Given the description of an element on the screen output the (x, y) to click on. 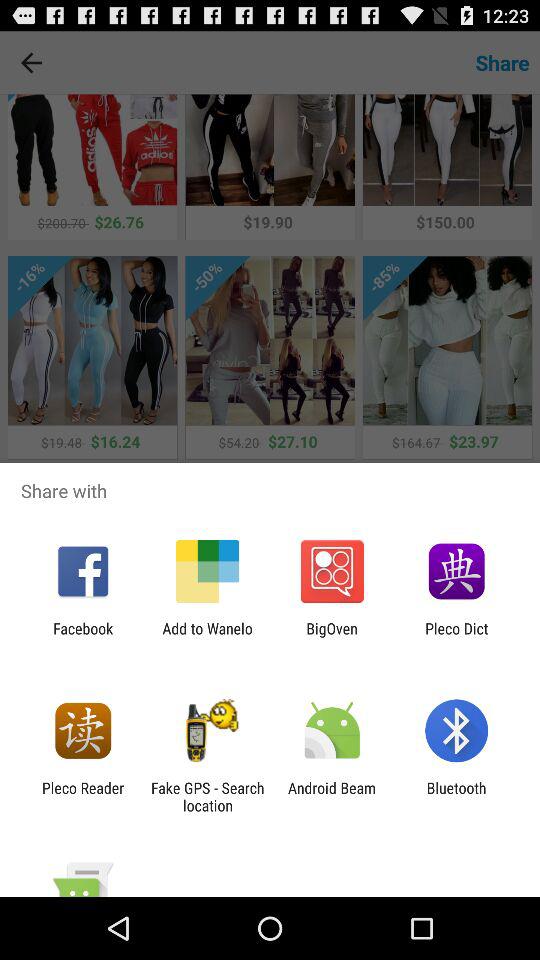
select app next to bluetooth (332, 796)
